Given the description of an element on the screen output the (x, y) to click on. 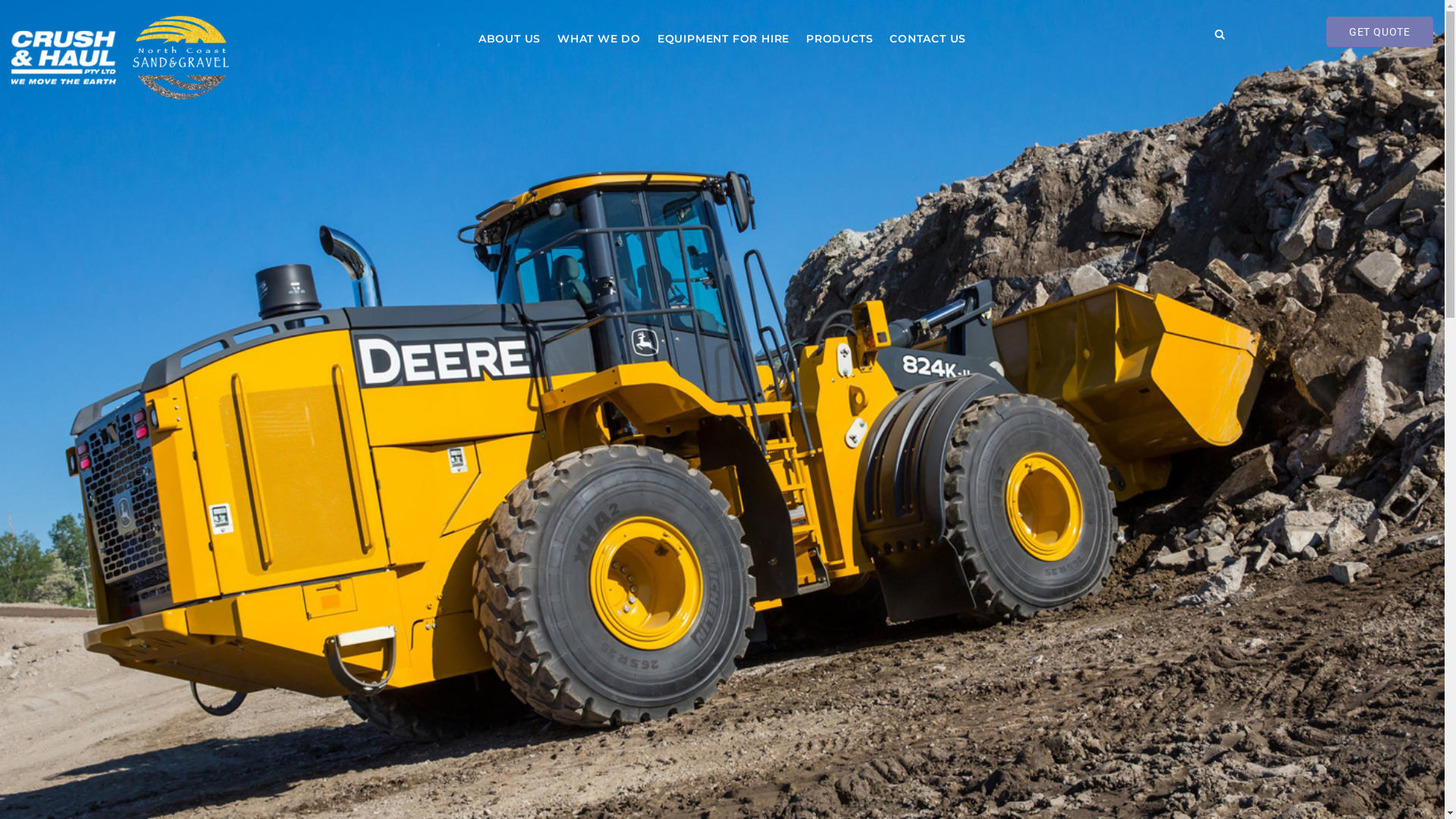
GET QUOTE Element type: text (1379, 31)
PRODUCTS Element type: text (839, 38)
ABOUT US Element type: text (509, 38)
CONTACT US Element type: text (927, 38)
WHAT WE DO Element type: text (598, 38)
EQUIPMENT FOR HIRE Element type: text (723, 38)
